Given the description of an element on the screen output the (x, y) to click on. 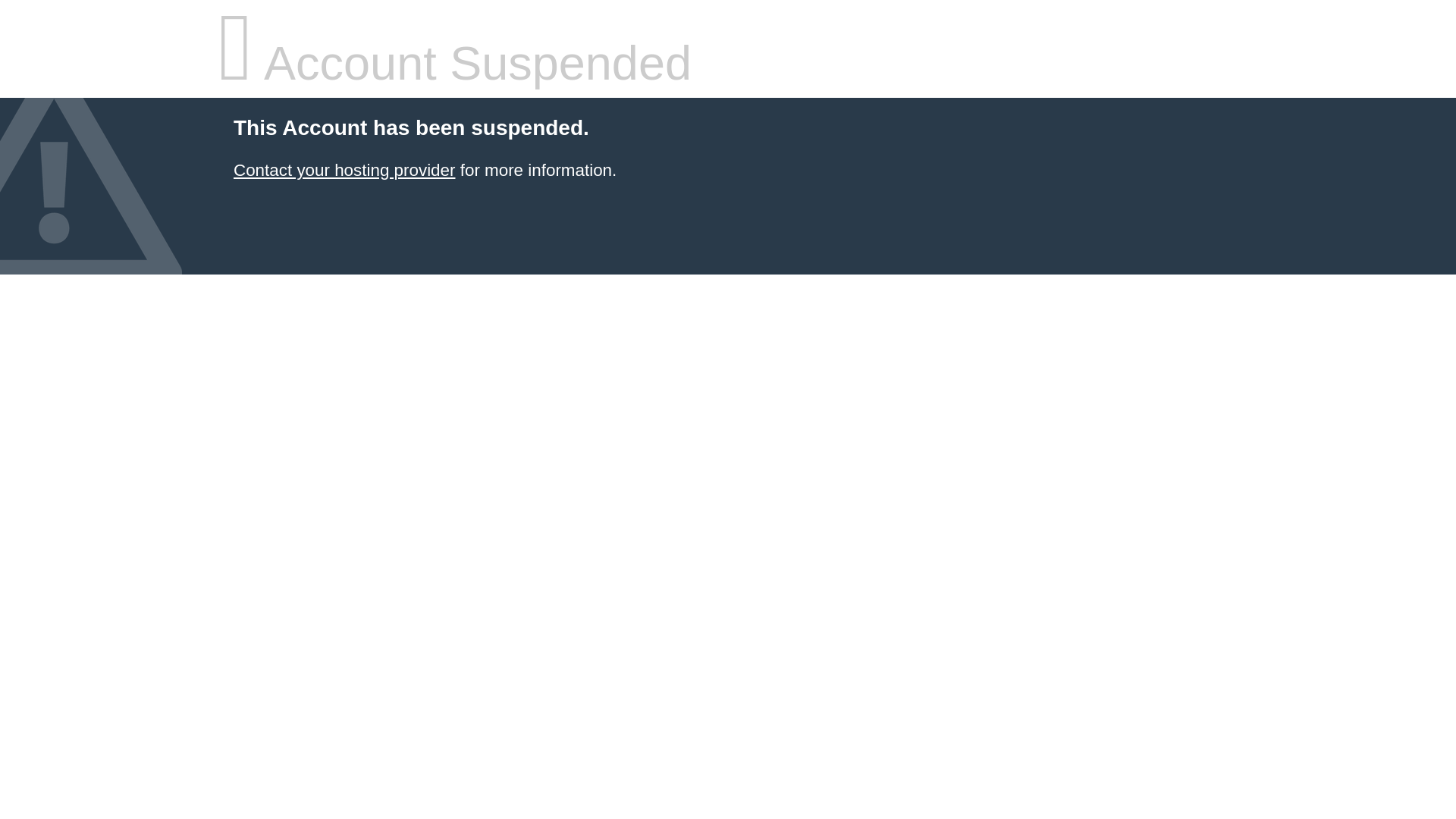
Contact your hosting provider (343, 169)
